Given the description of an element on the screen output the (x, y) to click on. 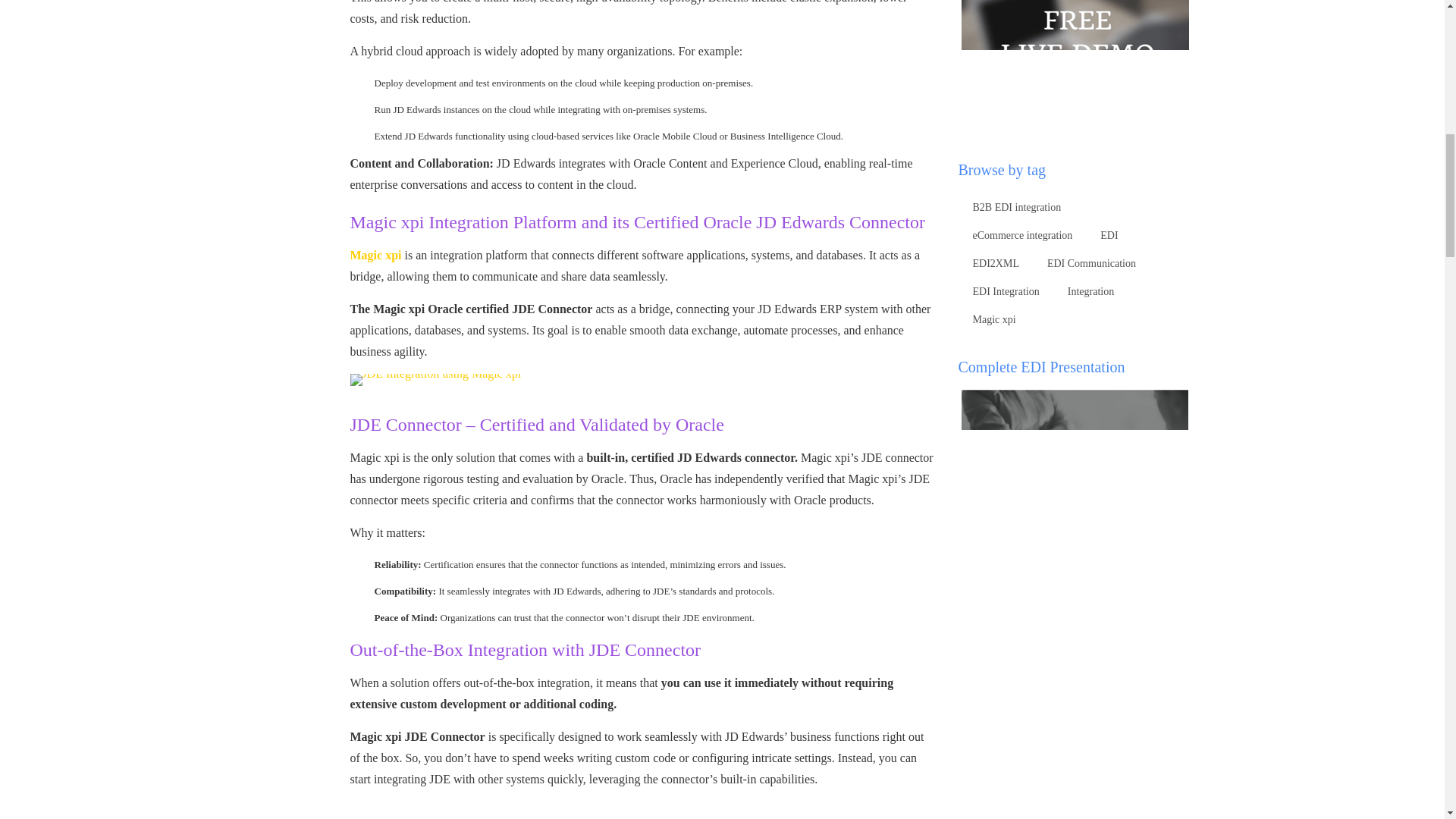
The Rise of EDI for B2B Transactions (1076, 472)
View Live Demo (1077, 42)
